Given the description of an element on the screen output the (x, y) to click on. 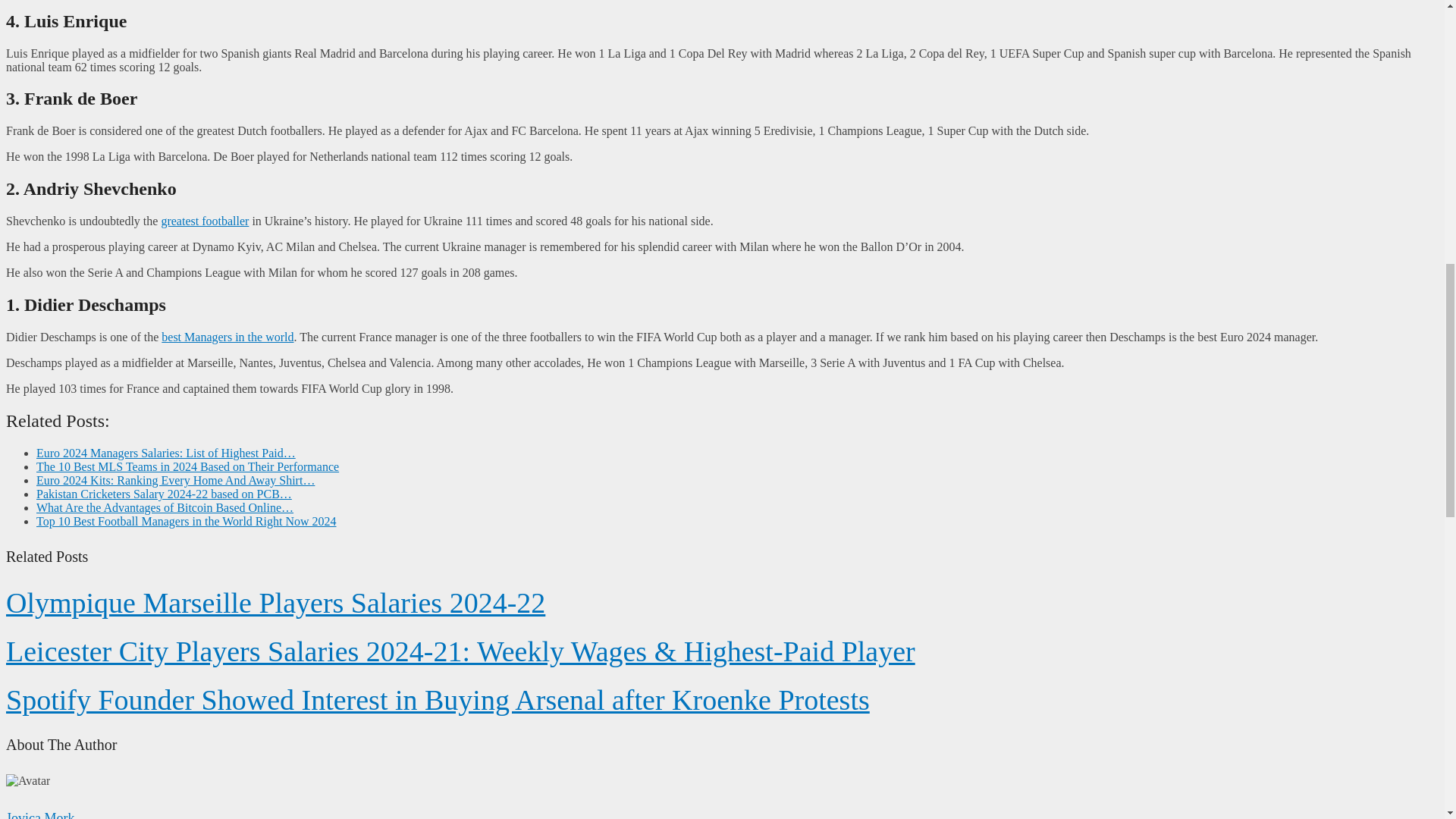
The 10 Best MLS Teams in 2024 Based on Their Performance (187, 466)
greatest footballer (204, 220)
Olympique Marseille Players Salaries 2024-22 (274, 603)
Top 10 Best Football Managers in the World Right Now 2024 (186, 521)
best Managers in the world (227, 336)
Olympique Marseille Players Salaries 2024-22 (274, 603)
Jovica Mork (39, 814)
